Given the description of an element on the screen output the (x, y) to click on. 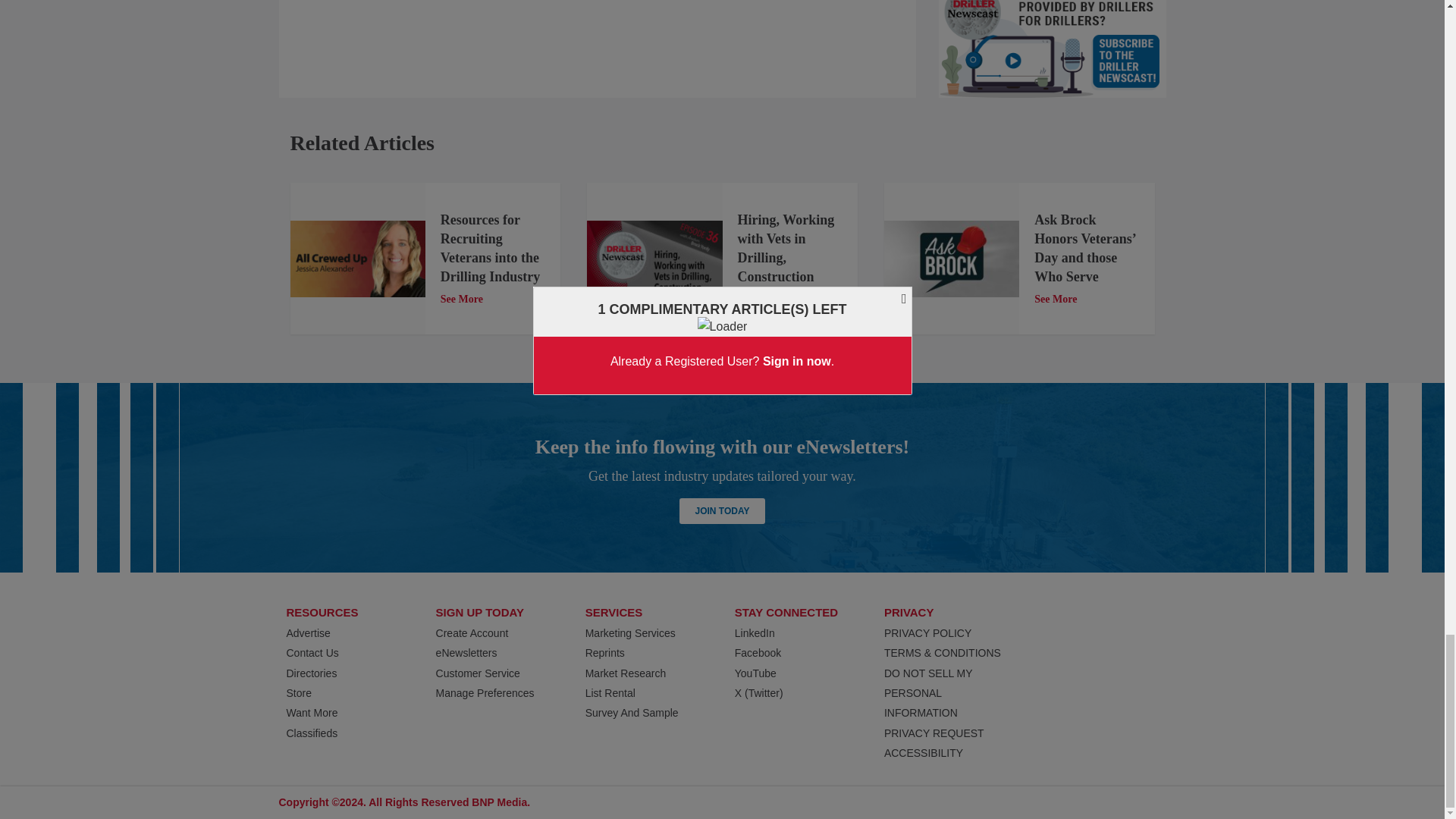
Jessica Alexander (357, 258)
Ask Brock video series (951, 258)
